Given the description of an element on the screen output the (x, y) to click on. 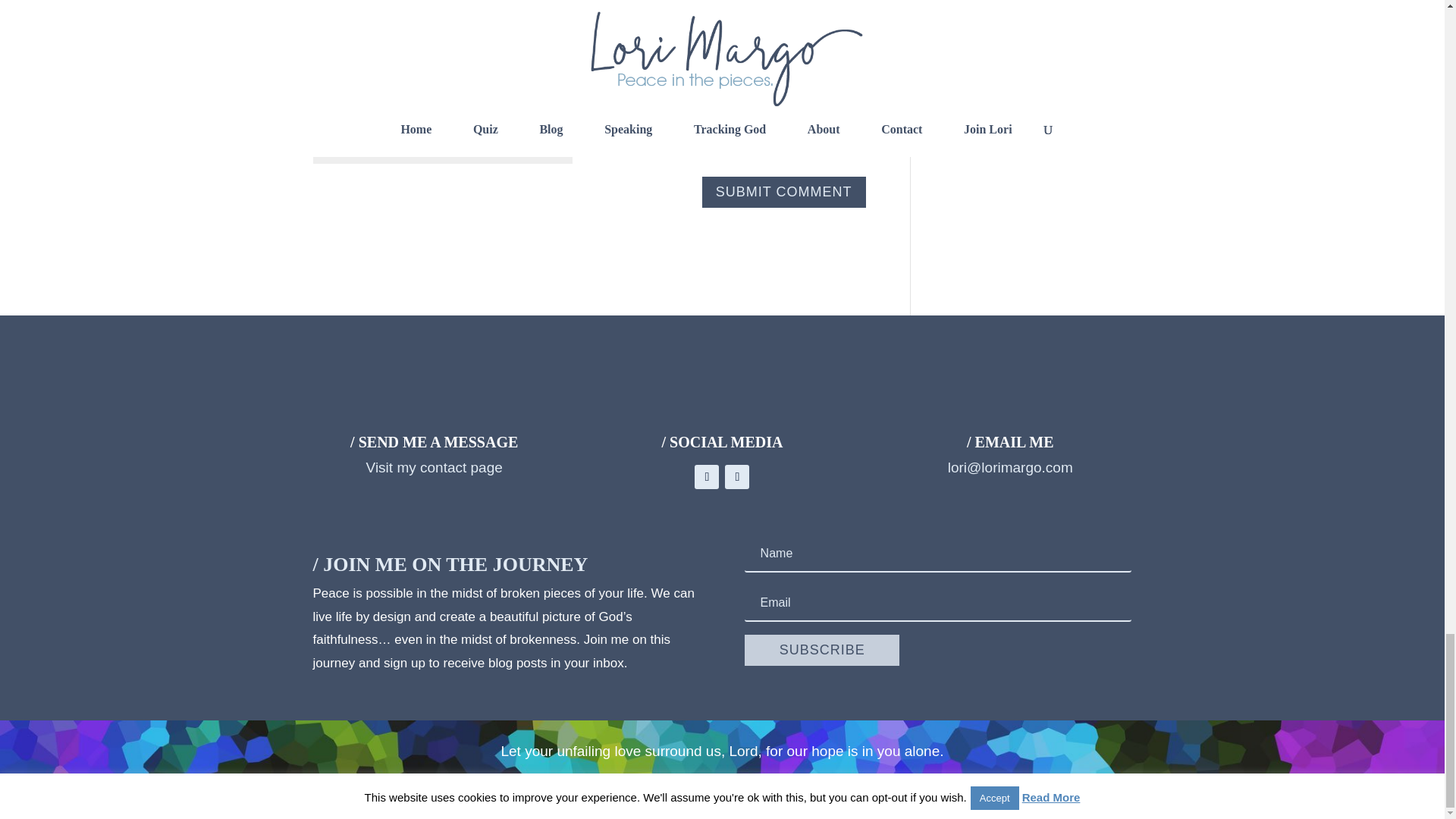
Follow on Instagram (737, 476)
Submit Comment (783, 192)
Follow on Facebook (706, 476)
